Given the description of an element on the screen output the (x, y) to click on. 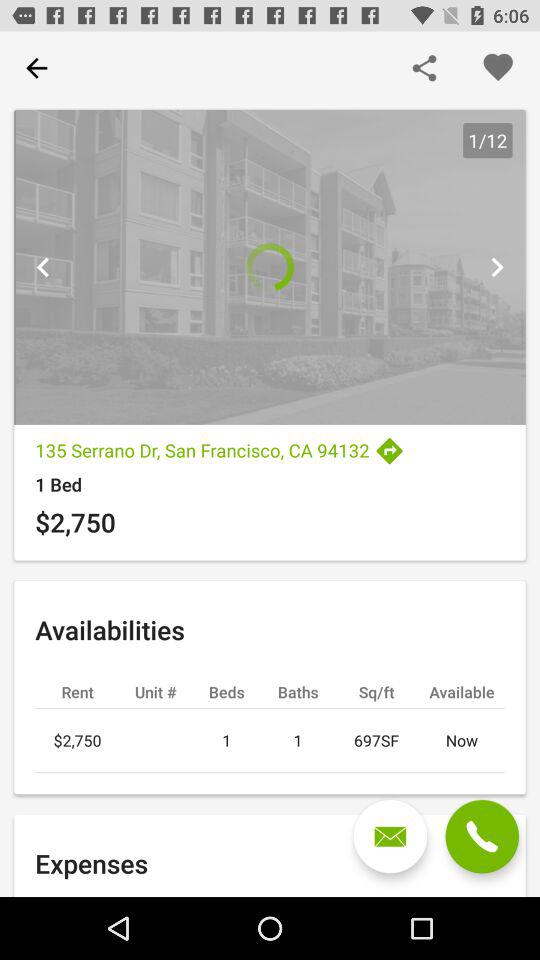
share button (424, 68)
